Given the description of an element on the screen output the (x, y) to click on. 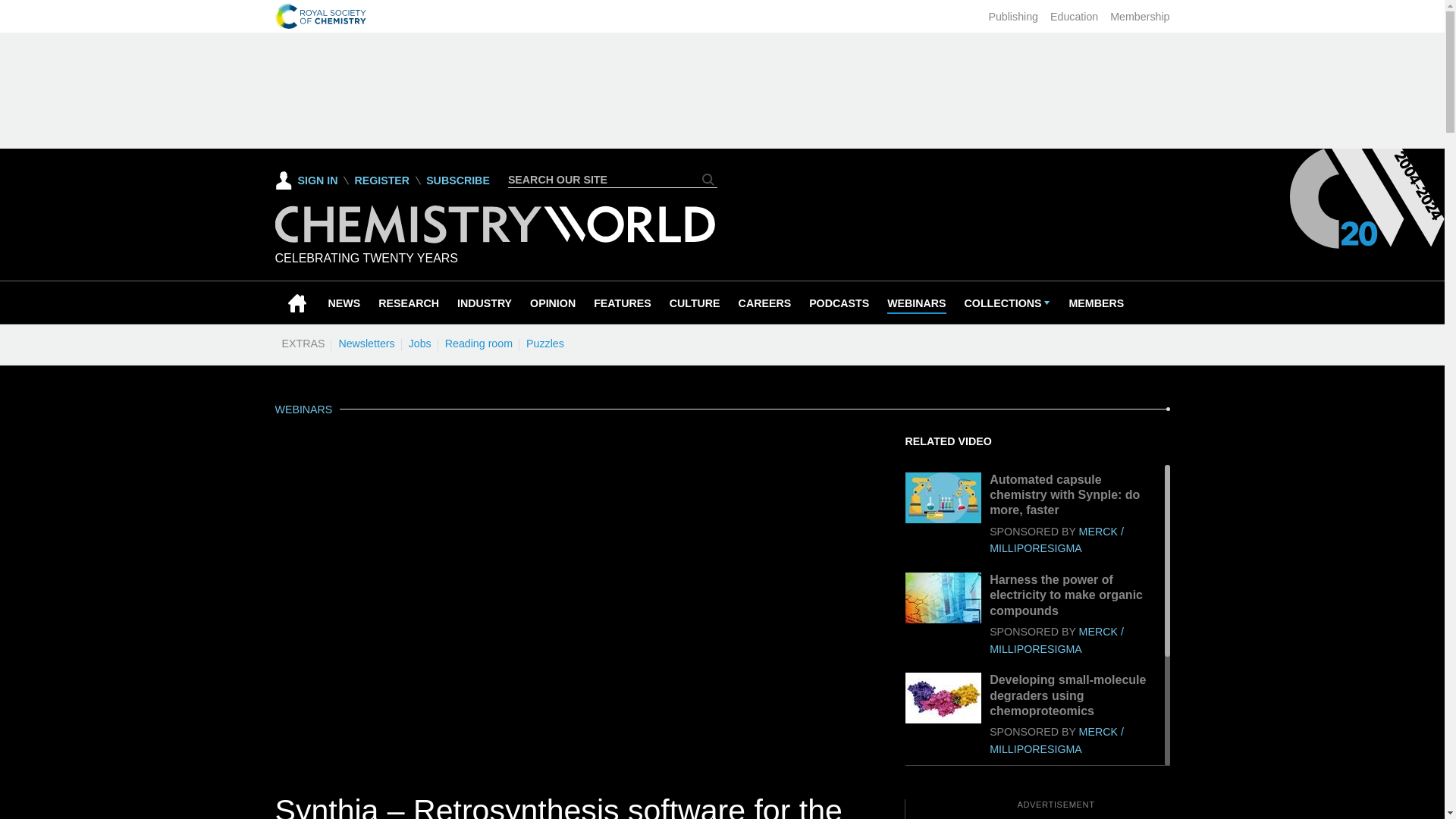
SIGN IN (306, 180)
Publishing (1013, 16)
Puzzles (544, 343)
Newsletters (366, 343)
REGISTER (381, 180)
Reading room (478, 343)
Chemistry World (494, 238)
Jobs (419, 343)
SEARCH (708, 179)
SUBSCRIBE (457, 180)
